Given the description of an element on the screen output the (x, y) to click on. 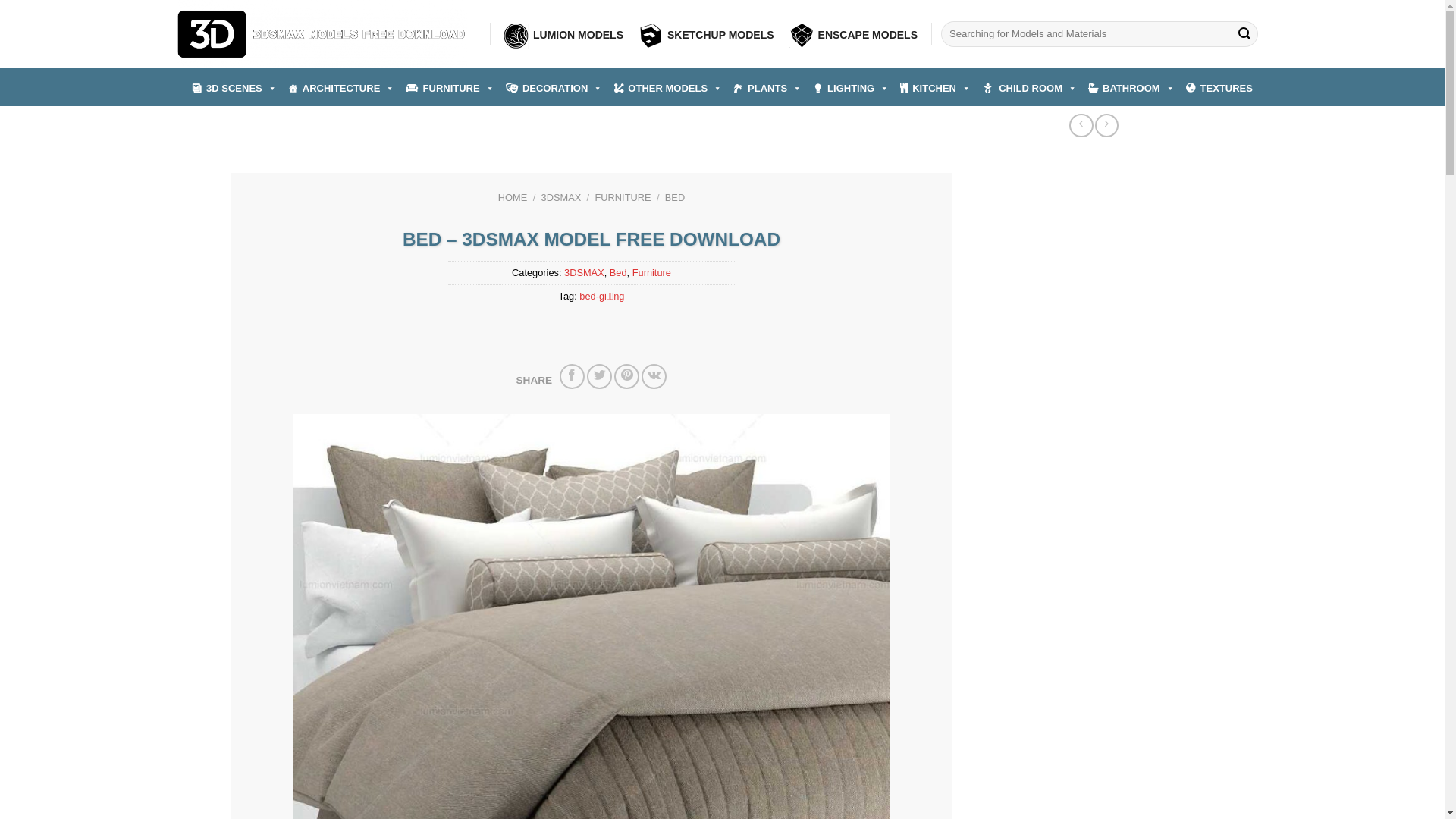
ARCHITECTURE Element type: text (341, 88)
BATHROOM Element type: text (1131, 88)
Advertisement Element type: hover (1091, 279)
DECORATION Element type: text (554, 88)
3DSMAX Element type: text (561, 197)
PLANTS Element type: text (767, 88)
ENSCAPE MODELS Element type: text (853, 34)
CHILD ROOM Element type: text (1029, 88)
Share on Twitter Element type: hover (598, 376)
Share on VKontakte Element type: hover (653, 376)
Search Element type: text (1244, 34)
3DSMAX Element type: text (584, 272)
FURNITURE Element type: text (623, 197)
TEXTURES Element type: text (1219, 88)
3D SCENES Element type: text (234, 88)
HOME Element type: text (512, 197)
Pin on Pinterest Element type: hover (626, 376)
Bed Element type: text (618, 272)
SKETCHUP MODELS Element type: text (705, 34)
KITCHEN Element type: text (935, 88)
BED Element type: text (674, 197)
OTHER MODELS Element type: text (667, 88)
Share on Facebook Element type: hover (571, 376)
LUMION MODELS Element type: text (562, 34)
Furniture Element type: text (651, 272)
FURNITURE Element type: text (449, 88)
LIGHTING Element type: text (850, 88)
